Given the description of an element on the screen output the (x, y) to click on. 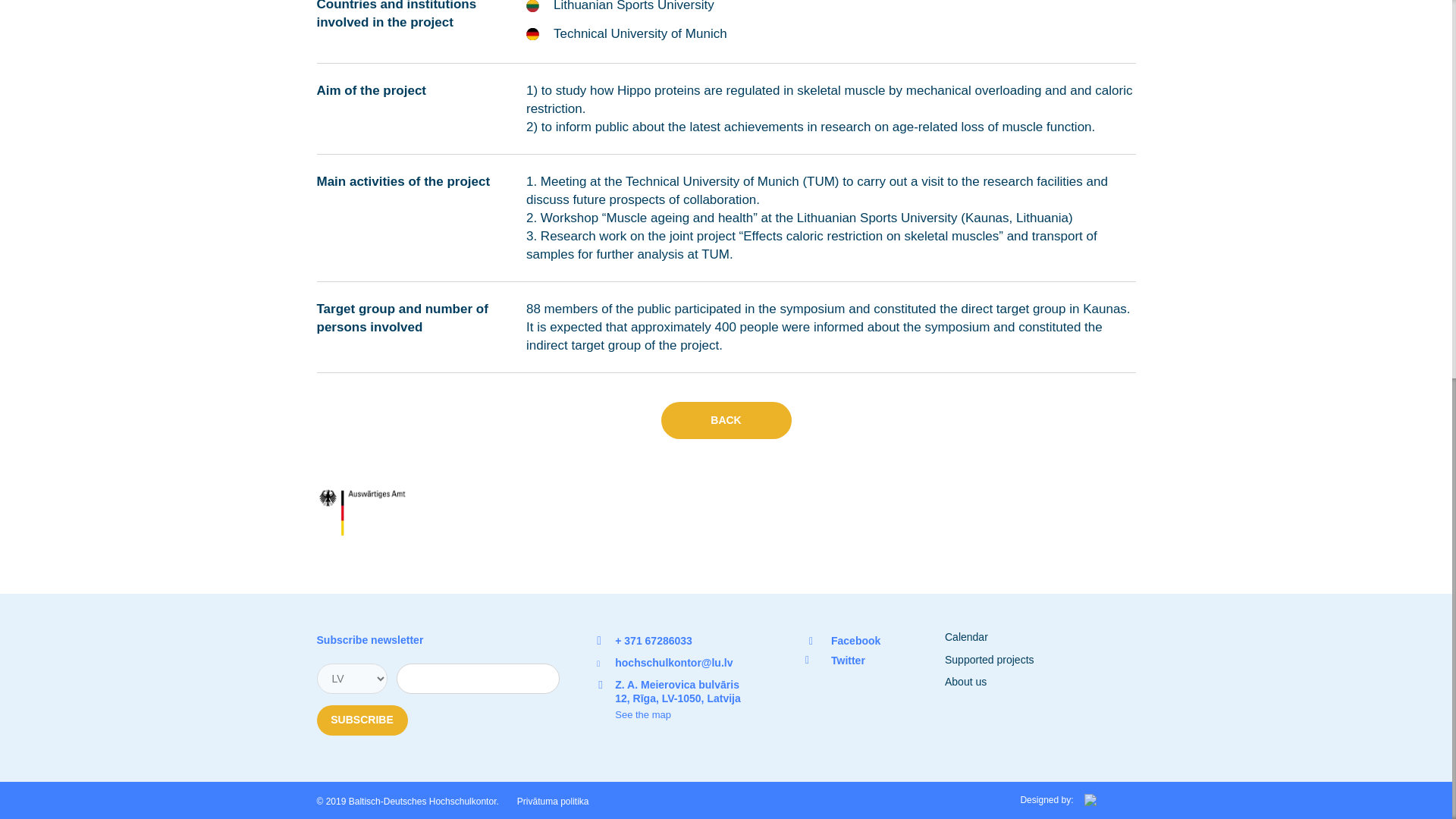
Subscribe (362, 720)
BACK (726, 420)
Supported projects (988, 659)
See the map (681, 714)
Facebook (855, 640)
Subscribe (362, 720)
Twitter (847, 660)
About us (965, 681)
Calendar (966, 636)
